Given the description of an element on the screen output the (x, y) to click on. 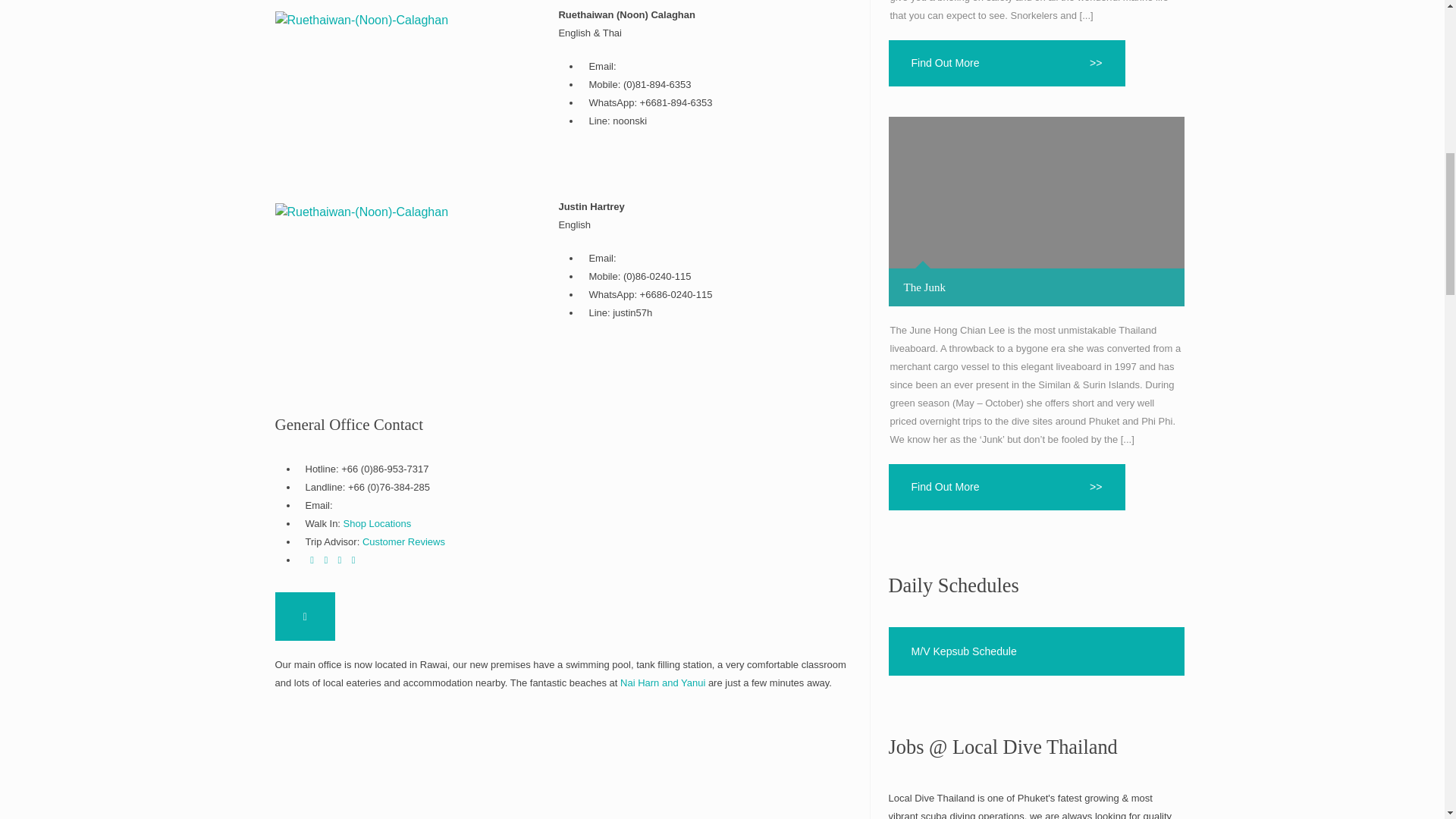
Local Dive Thailand on Twitter (325, 559)
Scuba Diving Tour Schedule for Phuket (1036, 651)
Email Local Dive Thailand (304, 616)
Local Dive Thailand on Facebook (311, 559)
Local Dive Thailand on Instagram (352, 559)
Local Dive Thailand on YouTube (339, 559)
